Given the description of an element on the screen output the (x, y) to click on. 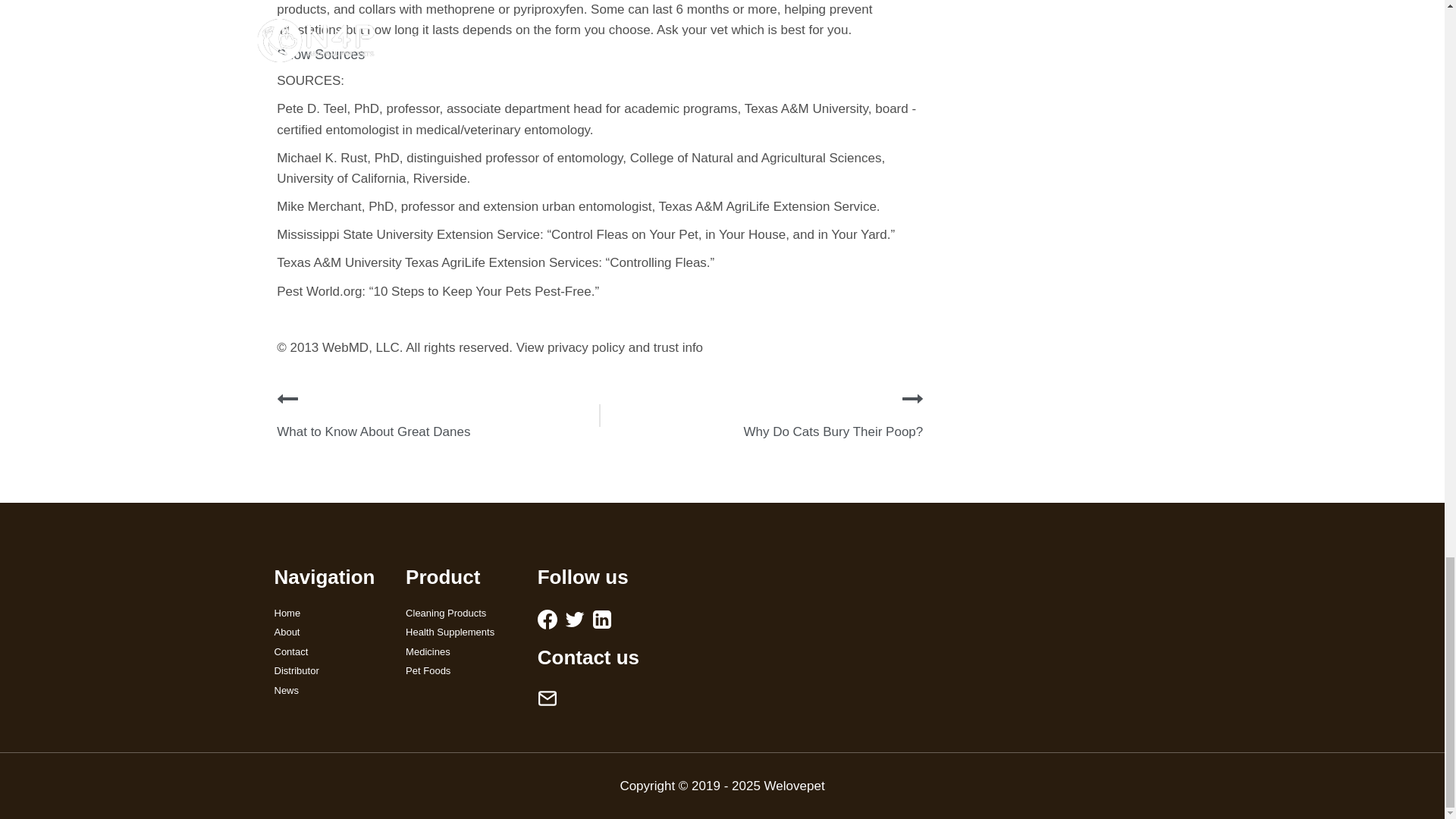
next article (912, 398)
Linkedin (601, 619)
Home (329, 613)
previous article (287, 398)
What to Know About Great Danes (373, 431)
Why Do Cats Bury Their Poop? (832, 431)
Twitter (574, 619)
